Given the description of an element on the screen output the (x, y) to click on. 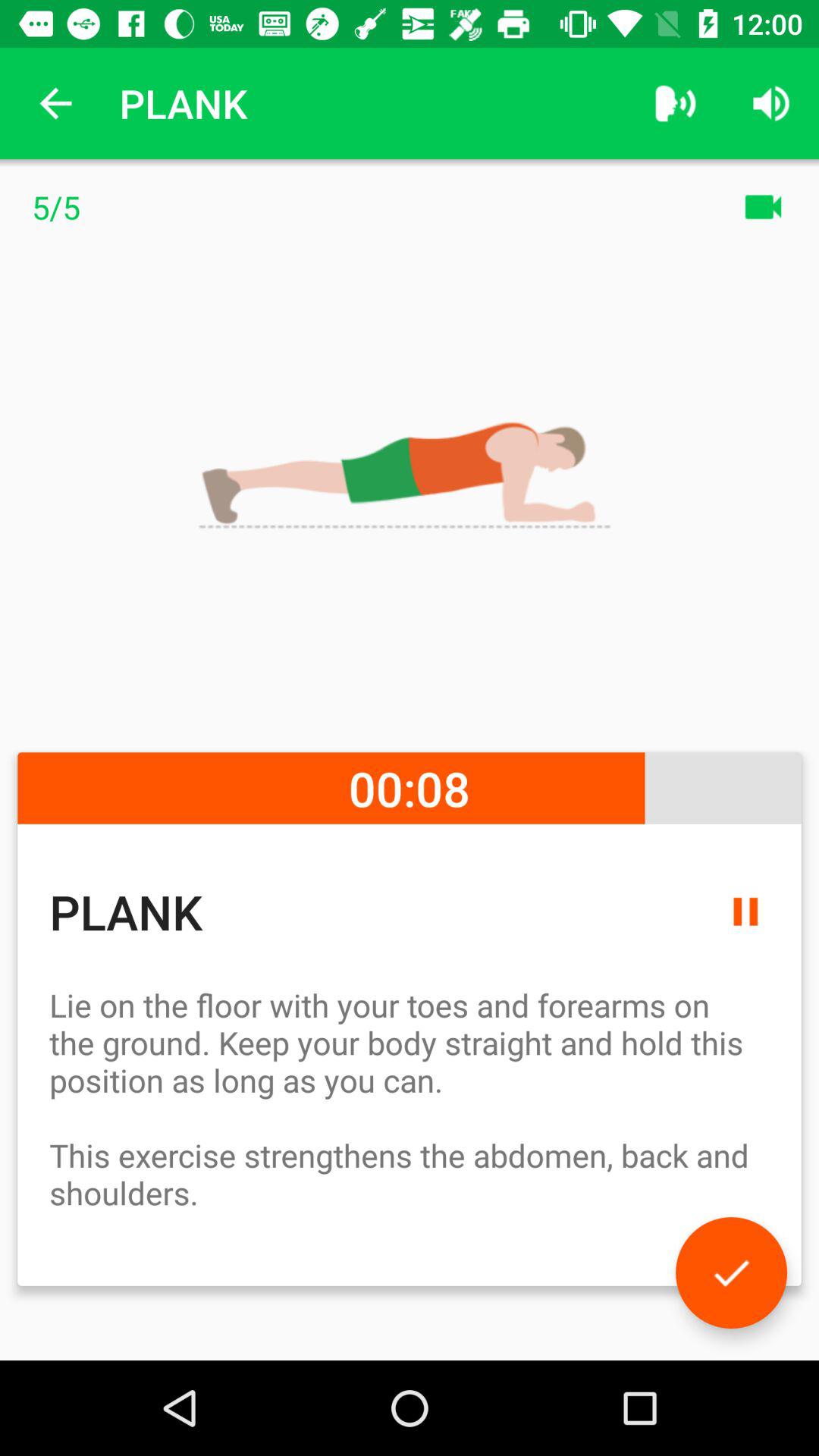
launch icon below lie on the icon (731, 1272)
